Given the description of an element on the screen output the (x, y) to click on. 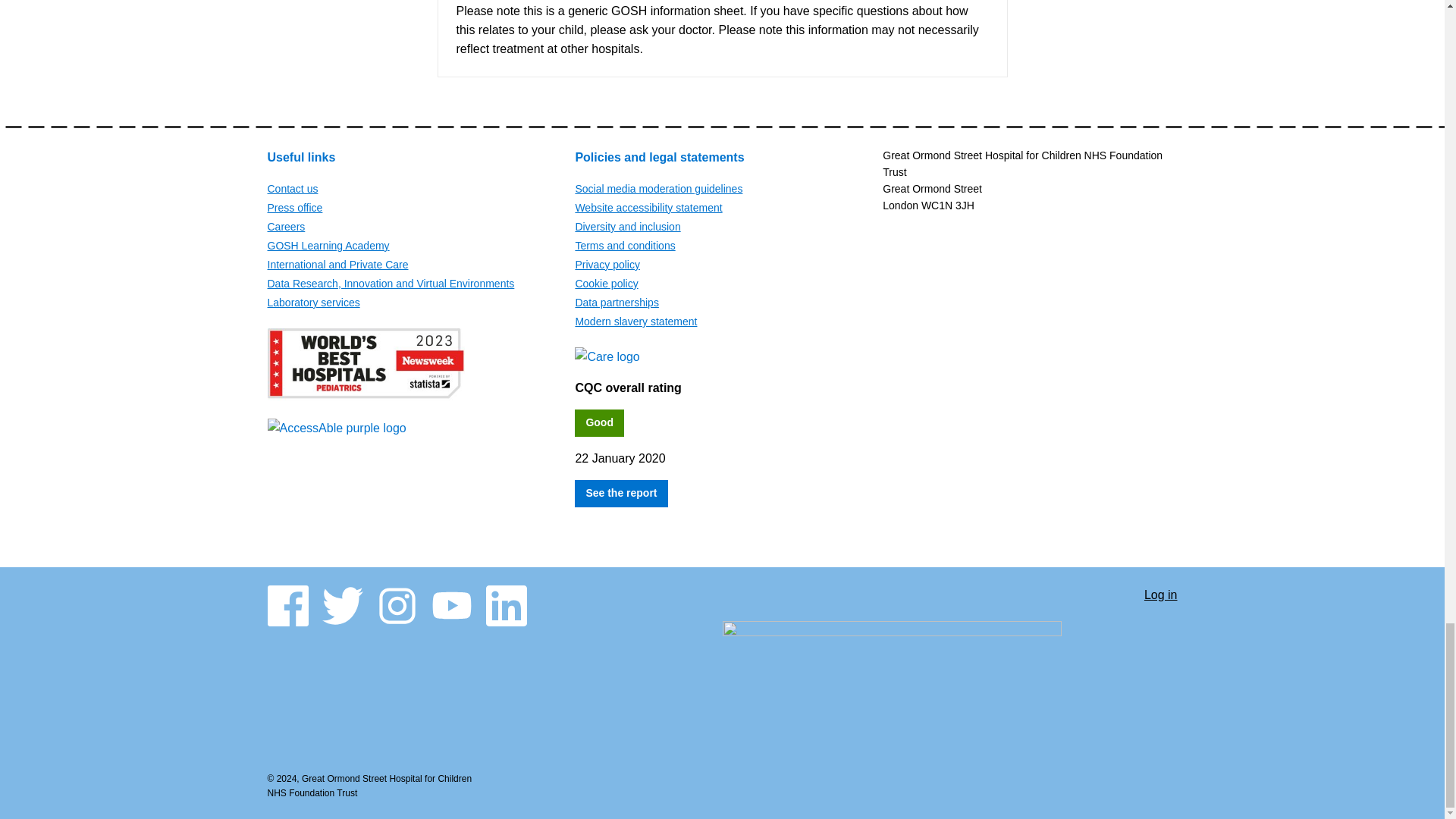
Follow us on Instagram (395, 605)
Follow us on Twitter (341, 605)
Follow us on Youtube (450, 605)
Follow us on Facebook (286, 605)
Follow us on Linkedin (504, 605)
